Given the description of an element on the screen output the (x, y) to click on. 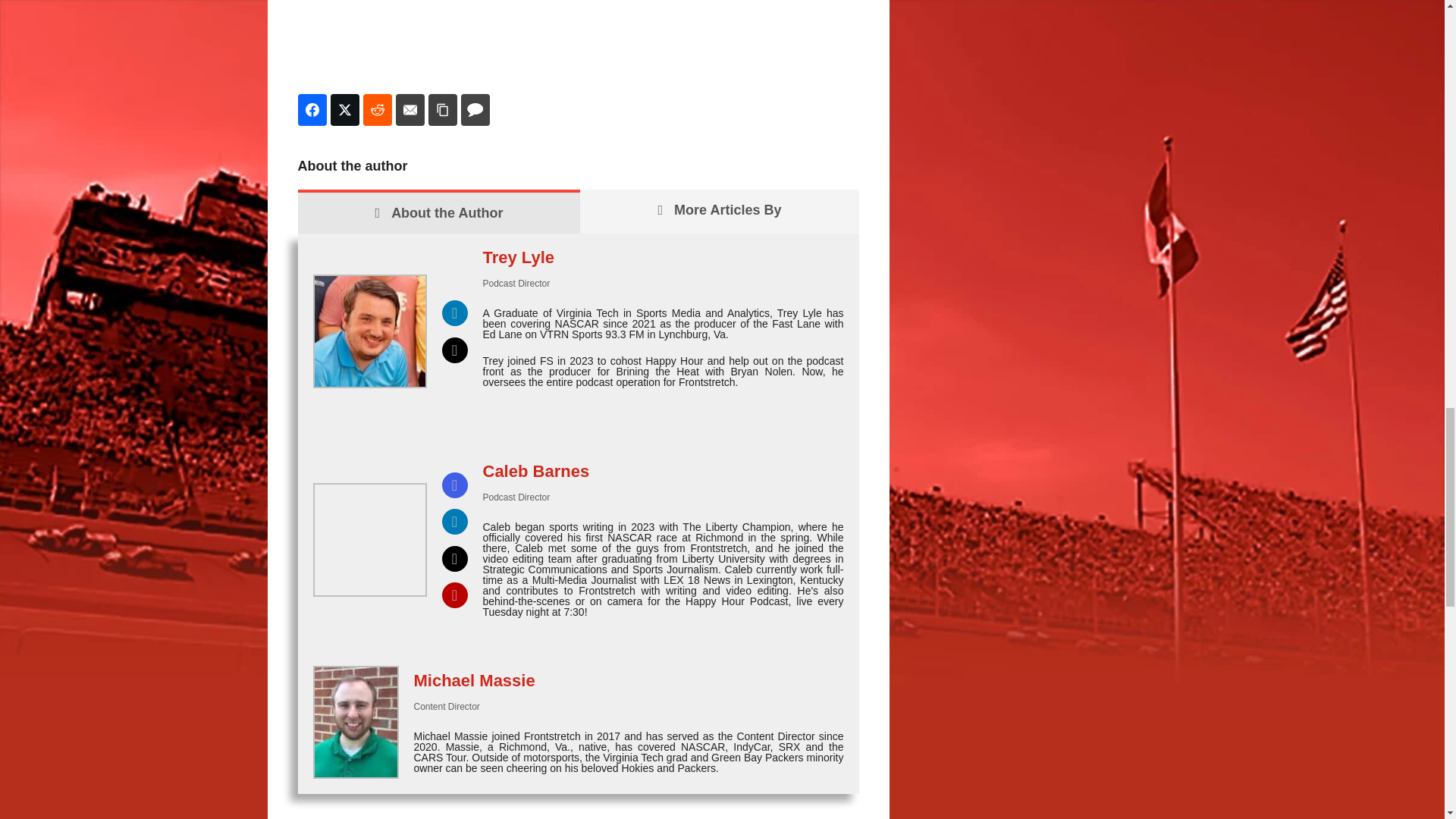
Happy Hour: Is Honda really heading to NASCAR? (578, 38)
